Given the description of an element on the screen output the (x, y) to click on. 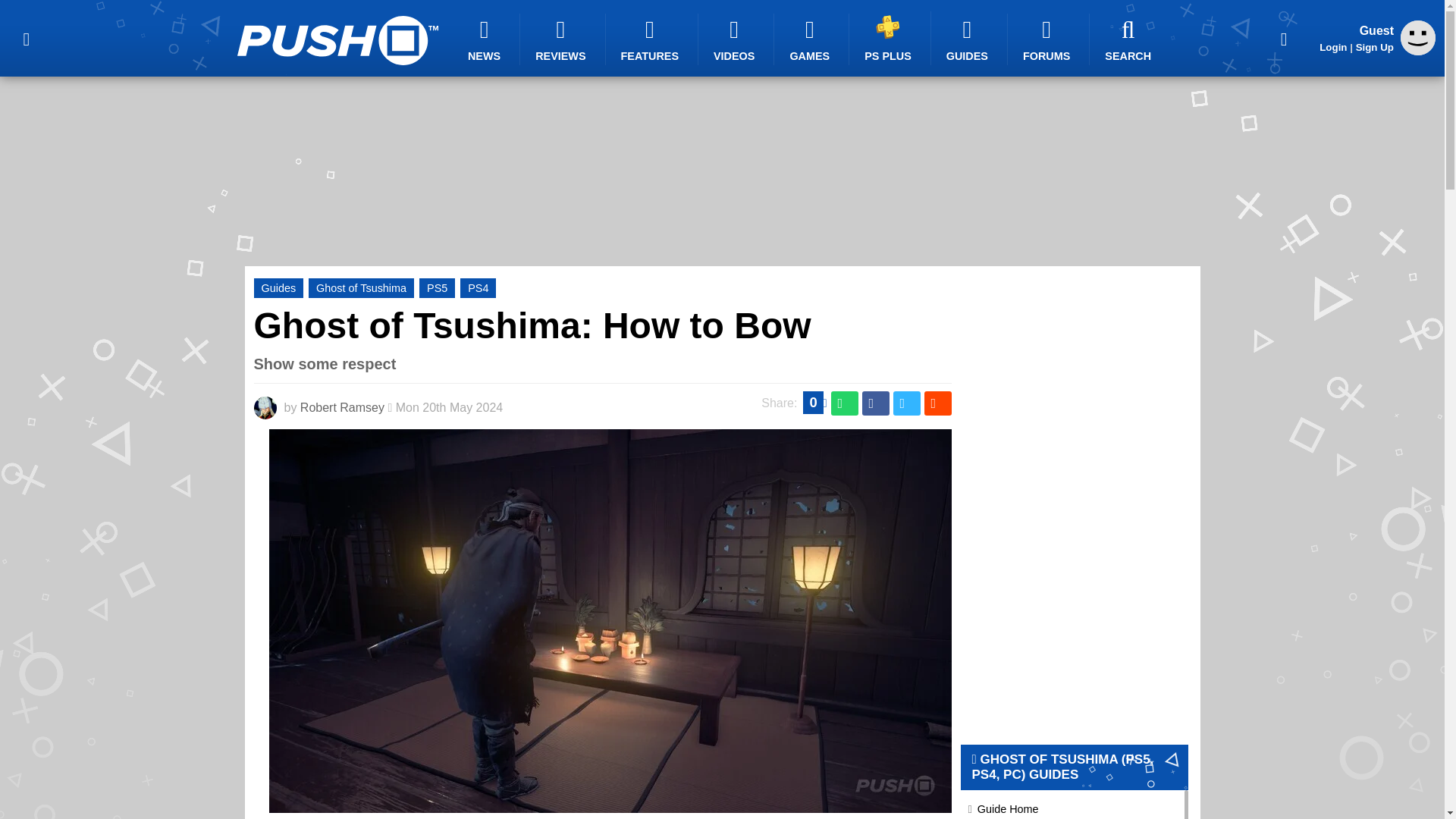
SEARCH (1129, 39)
Sign Up (1374, 47)
Push Square (336, 40)
GUIDES (969, 39)
Share This Page (1283, 37)
Menu (26, 37)
GAMES (811, 39)
Guest (1417, 51)
REVIEWS (562, 39)
Push Square (336, 40)
FEATURES (651, 39)
Guest (1417, 37)
FORUMS (1048, 39)
NEWS (485, 39)
VIDEOS (736, 39)
